Given the description of an element on the screen output the (x, y) to click on. 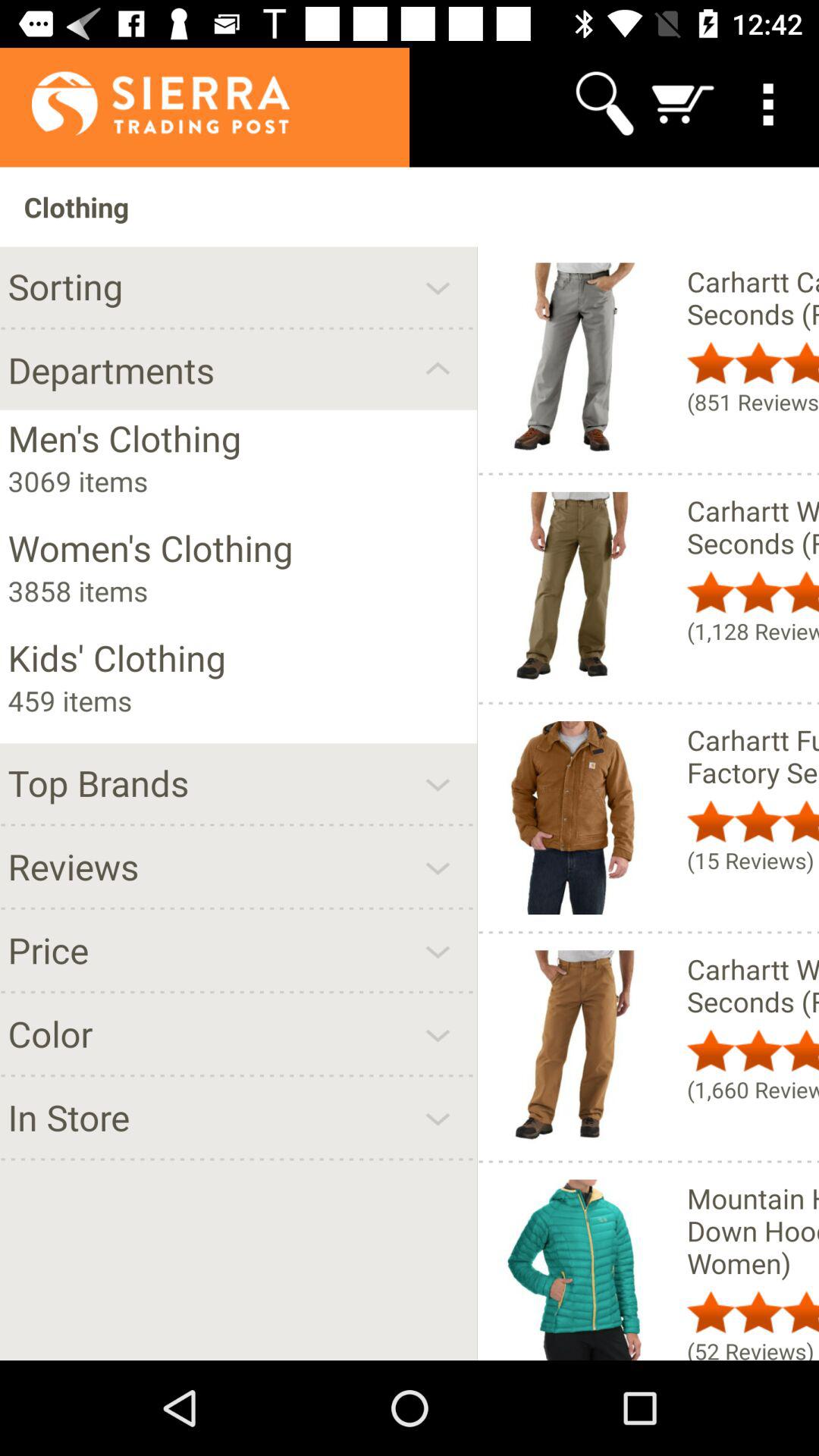
launch app below (1,660 reviews) app (753, 1230)
